Given the description of an element on the screen output the (x, y) to click on. 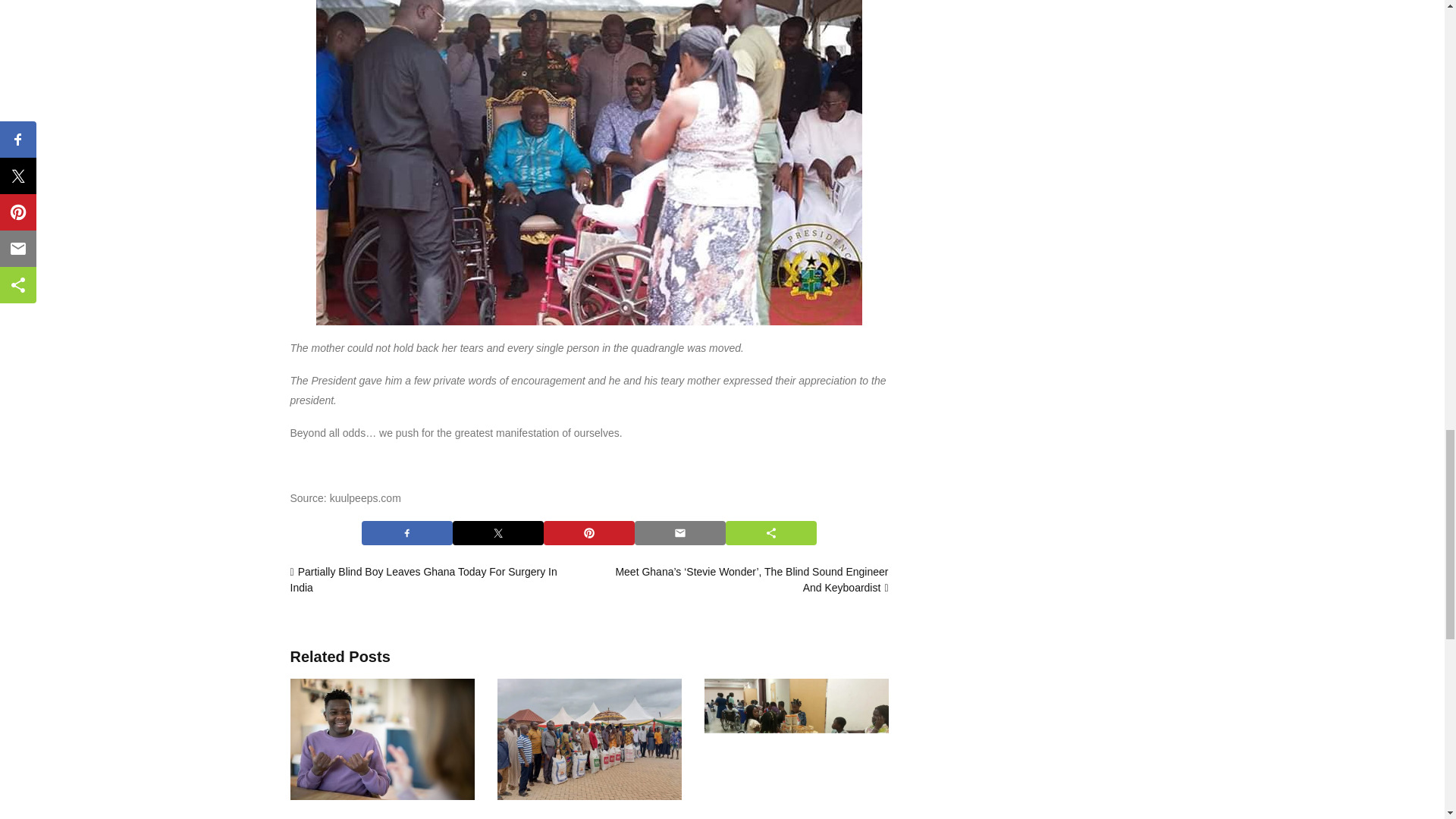
Partially Blind Boy Leaves Ghana Today For Surgery In India (422, 579)
30 Farmers With Disability Receive Farm Inputs Under PFJ (579, 817)
30 Farmers With Disability Receive Farm Inputs Under PFJ (589, 739)
